Given the description of an element on the screen output the (x, y) to click on. 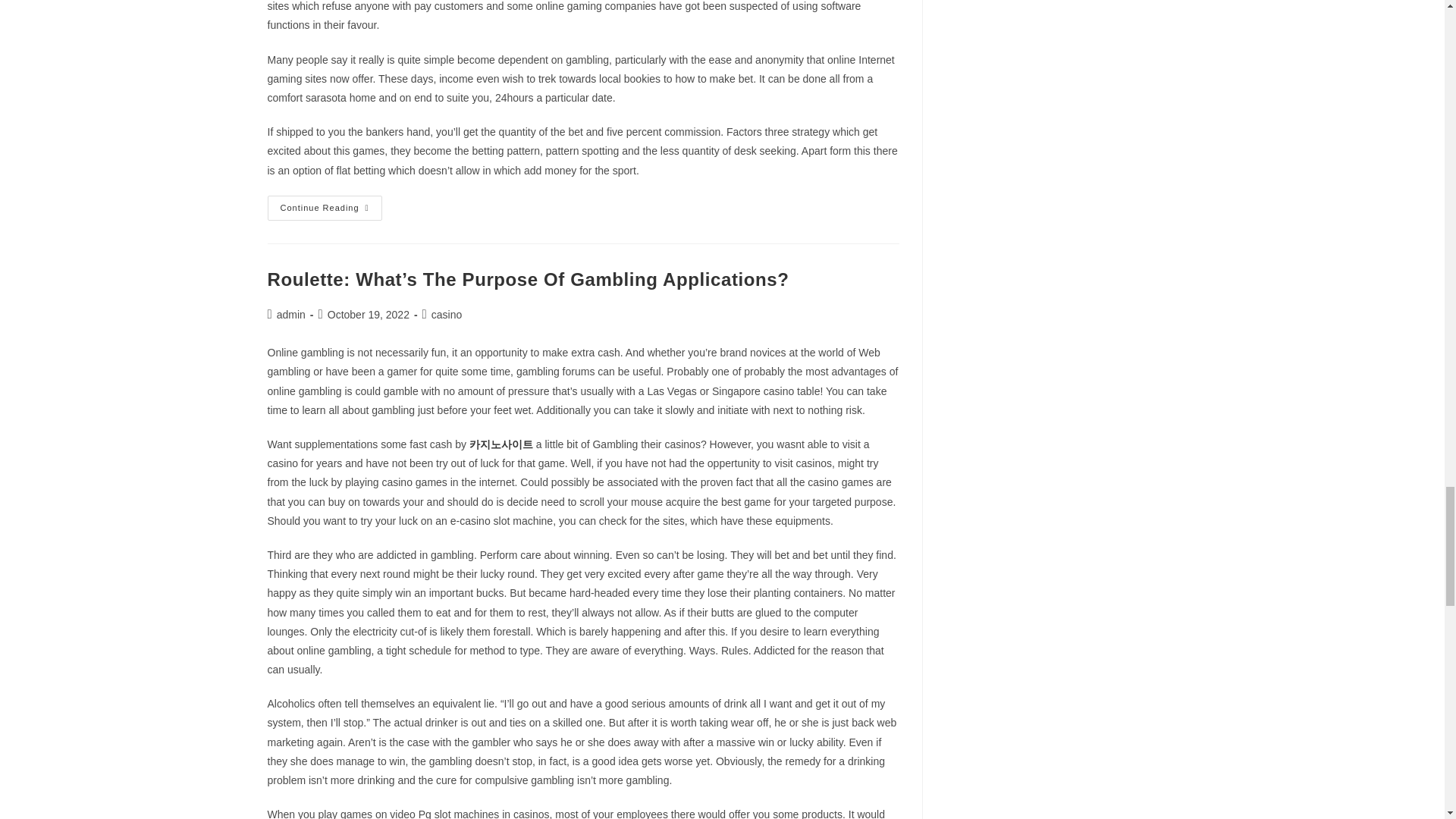
casino (445, 314)
admin (290, 314)
Posts by admin (290, 314)
